Given the description of an element on the screen output the (x, y) to click on. 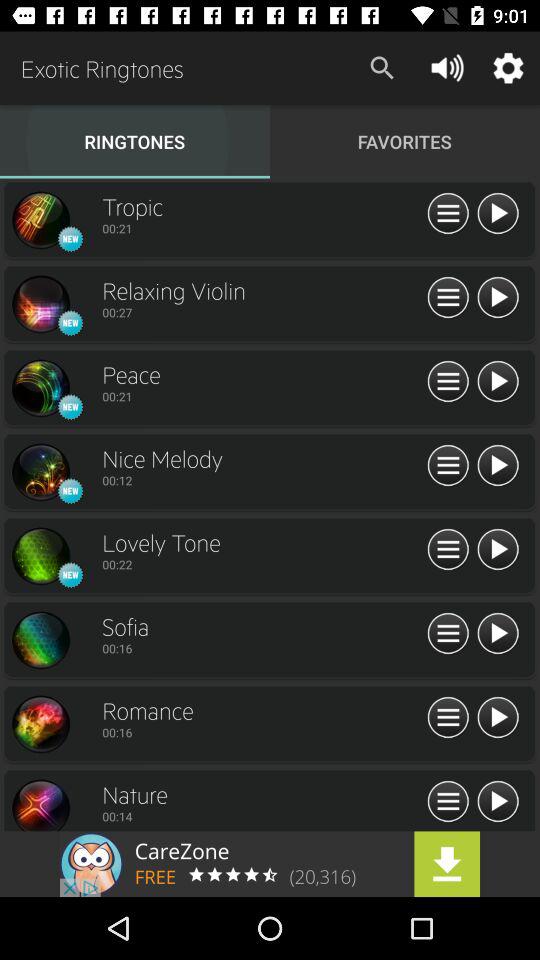
play (497, 717)
